Given the description of an element on the screen output the (x, y) to click on. 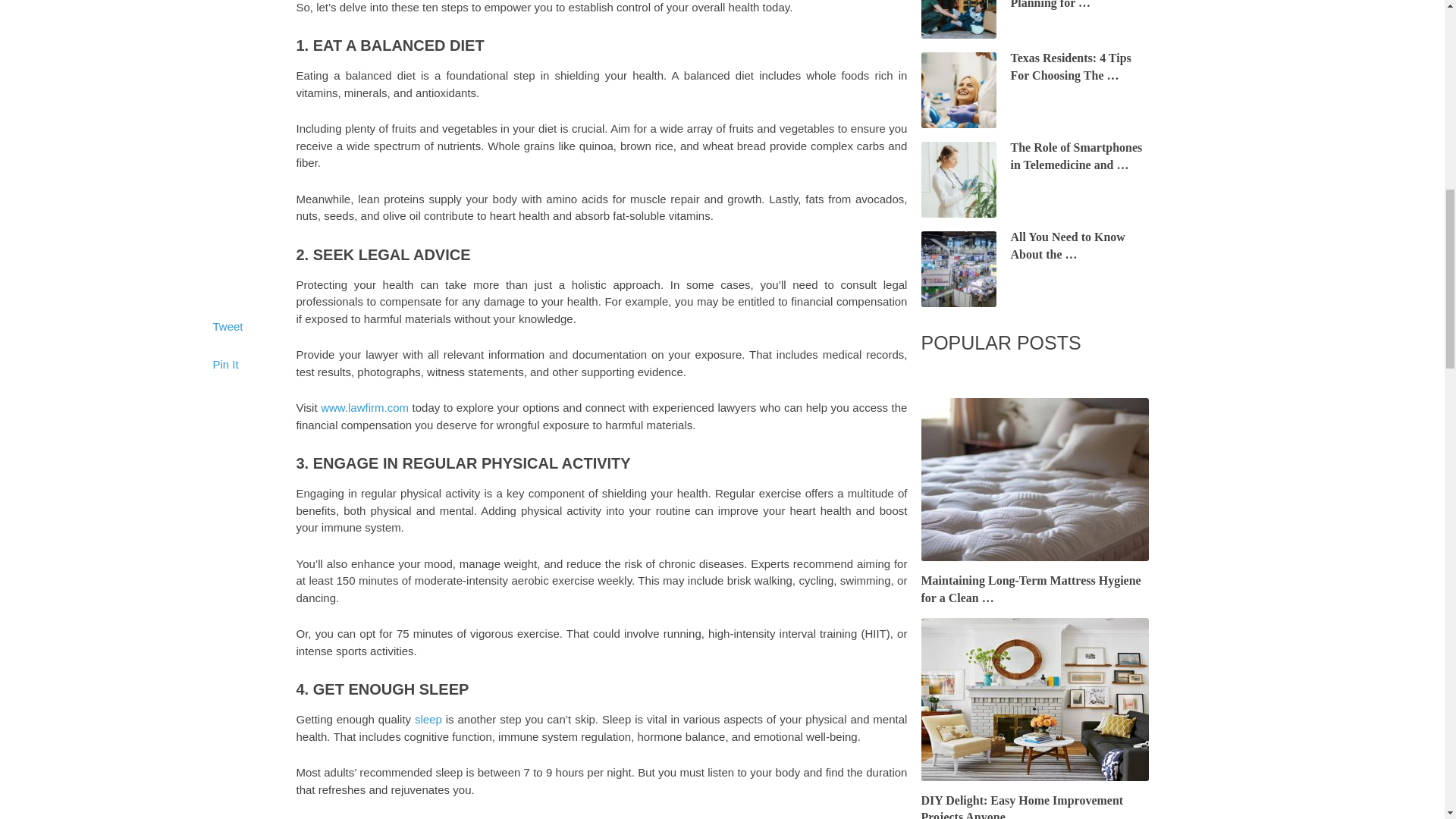
sleep (428, 718)
www.lawfirm.com (364, 407)
